Given the description of an element on the screen output the (x, y) to click on. 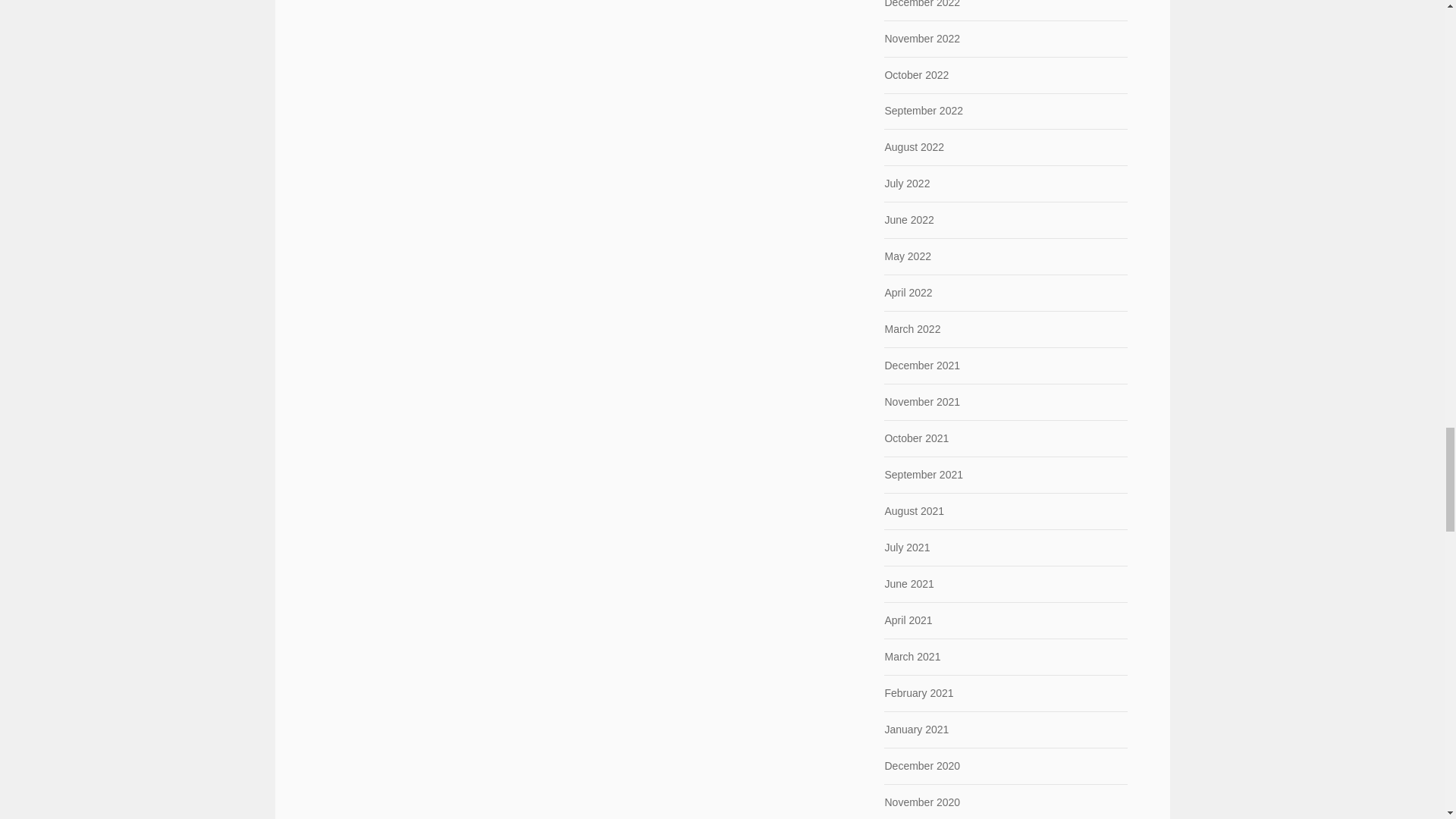
April 2022 (907, 292)
May 2022 (906, 256)
December 2022 (921, 4)
October 2021 (916, 438)
June 2022 (908, 219)
December 2021 (921, 365)
November 2021 (921, 401)
July 2022 (906, 183)
June 2021 (908, 583)
August 2022 (913, 146)
